Given the description of an element on the screen output the (x, y) to click on. 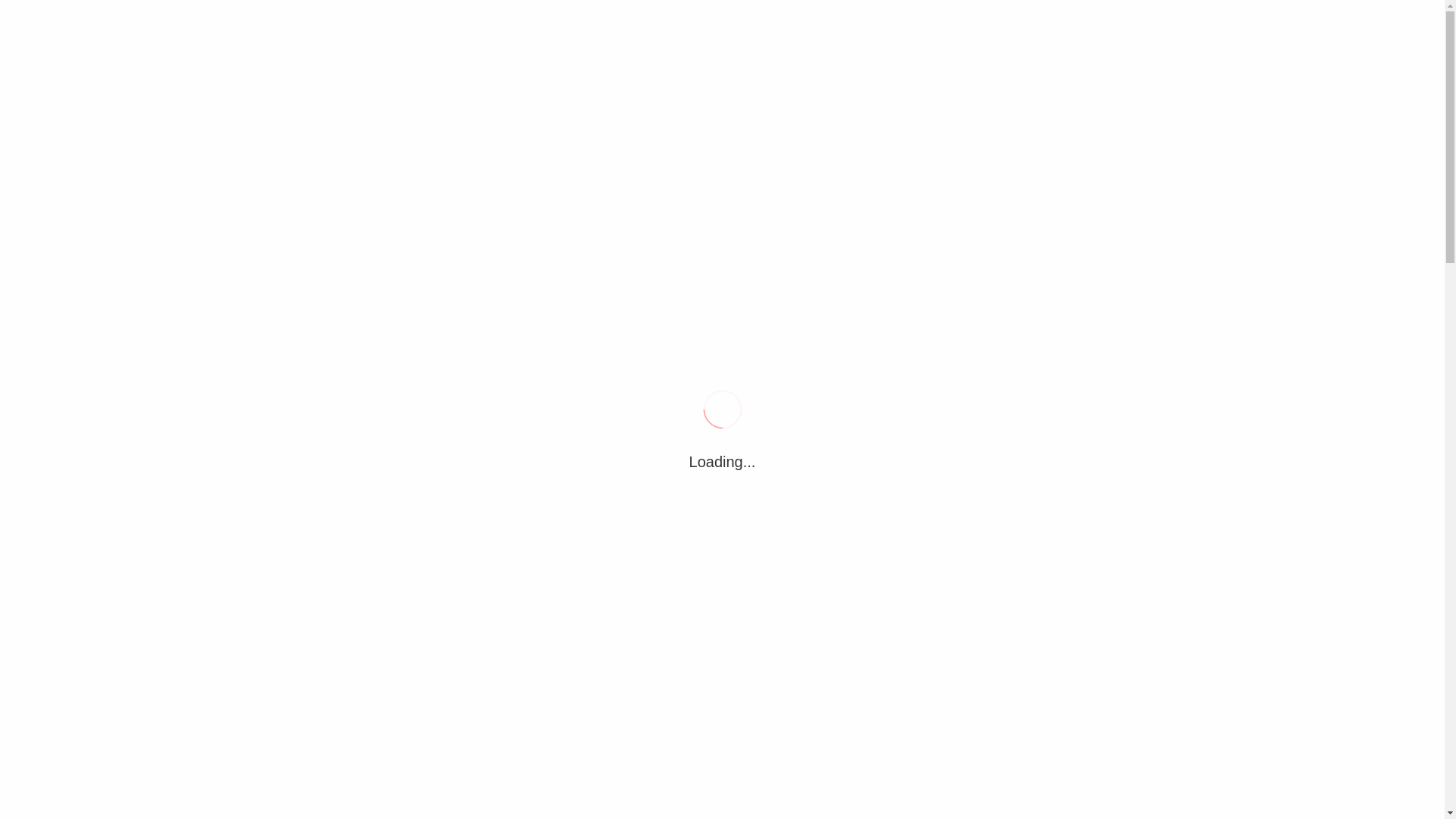
click here Element type: text (1072, 638)
CONTACT Element type: text (528, 136)
Home Element type: text (304, 289)
NewsBlaze Legal Feed Element type: text (986, 733)
HOME Element type: text (312, 136)
Commentary Element type: text (369, 289)
Follow @1st_counsel Element type: text (931, 345)
1stCounsel Element type: text (371, 67)
Mailcentro Element type: text (1024, 662)
Commentary Element type: text (480, 790)
What Does A Business Tax Advisor Do? Element type: text (508, 15)
clicking here Element type: text (1064, 600)
EMAIL SUPPORT Element type: text (416, 136)
Contact Us Element type: text (903, 662)
Log In Element type: text (1105, 508)
